Given the description of an element on the screen output the (x, y) to click on. 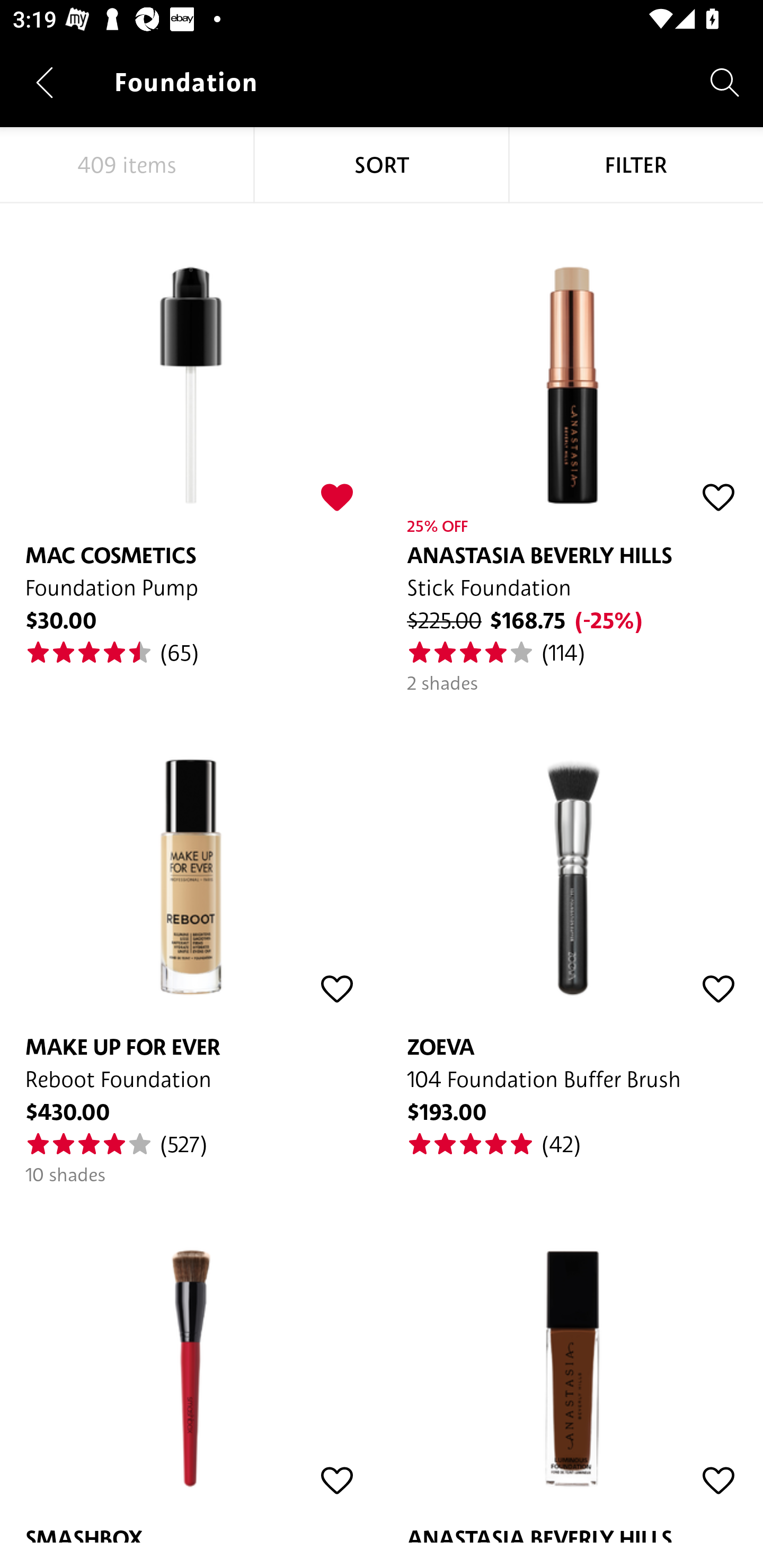
Navigate up (44, 82)
Search (724, 81)
SORT (381, 165)
FILTER (636, 165)
MAC COSMETICS Foundation Pump $30.00 (65) (190, 434)
ZOEVA 104 Foundation Buffer Brush $193.00 (42) (571, 926)
SMASHBOX Powder Foundation Brush (190, 1364)
ANASTASIA BEVERLY HILLS Luminous Foundation (571, 1364)
